Given the description of an element on the screen output the (x, y) to click on. 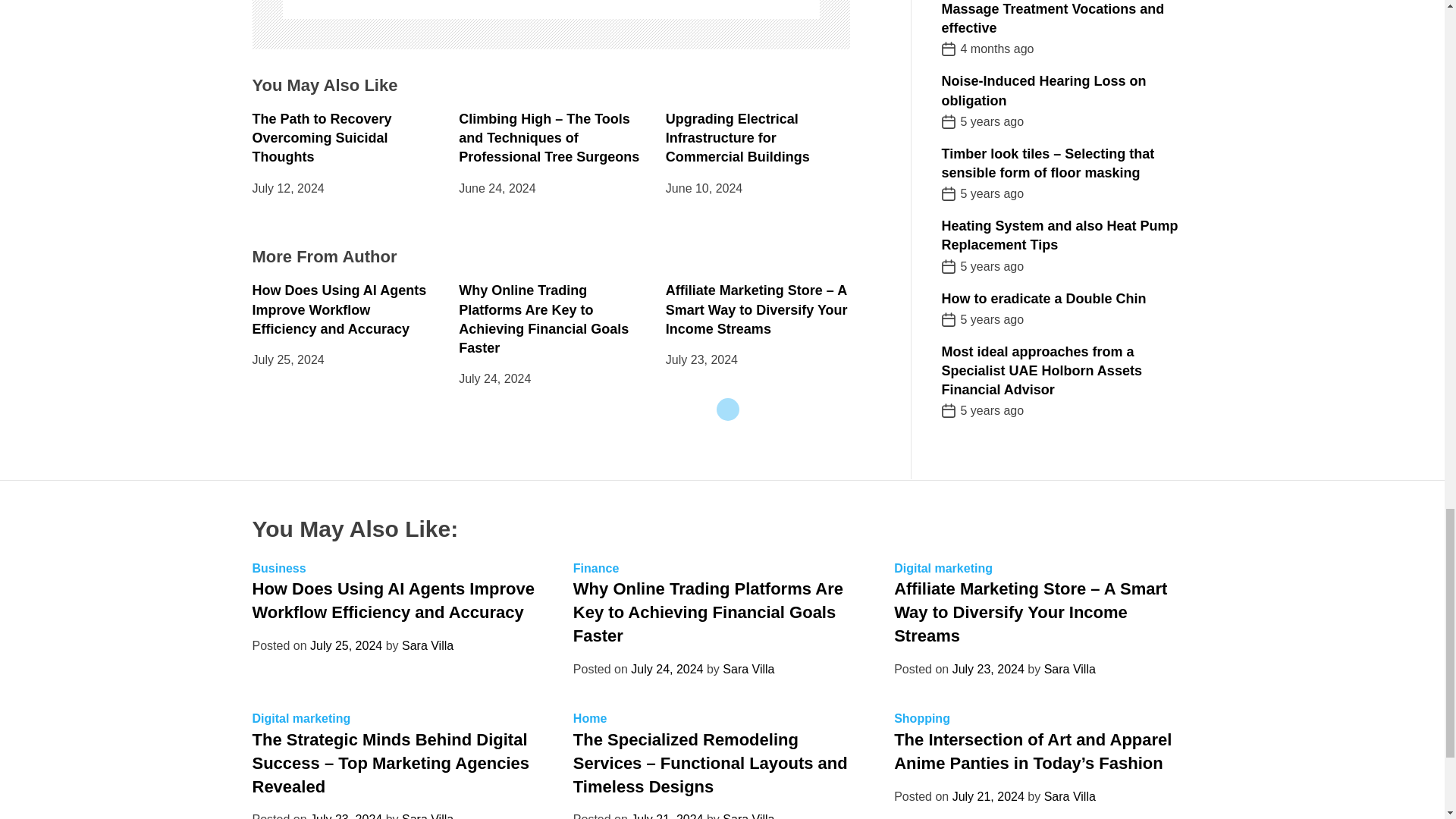
Upgrading Electrical Infrastructure for Commercial Buildings (737, 137)
The Path to Recovery Overcoming Suicidal Thoughts (321, 137)
